Given the description of an element on the screen output the (x, y) to click on. 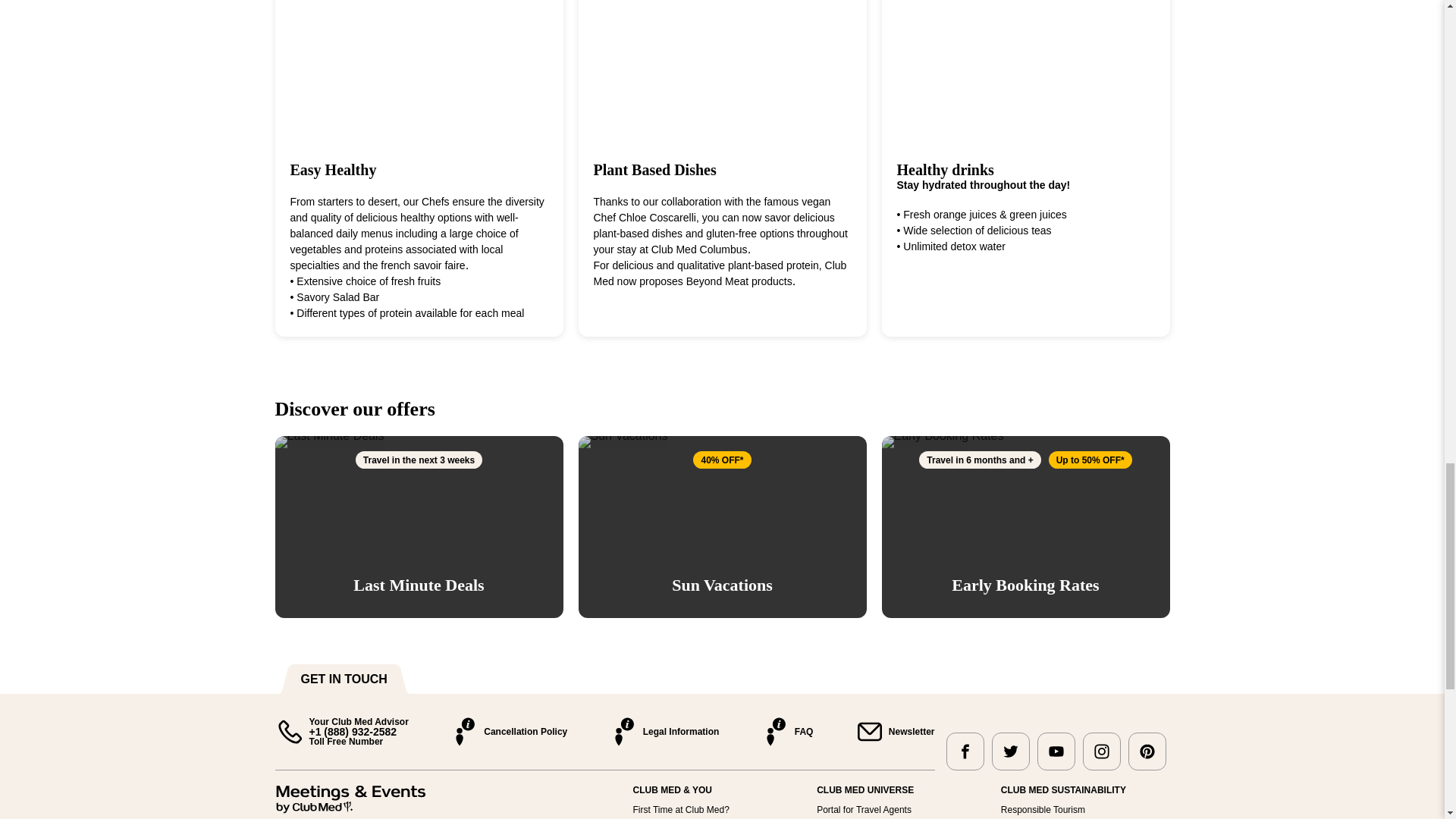
Legal Information (663, 731)
Cancellation Policy (508, 731)
FAQ (786, 731)
Newsletter (894, 731)
Your Club Med Advisor Toll Free Number (341, 731)
